Given the description of an element on the screen output the (x, y) to click on. 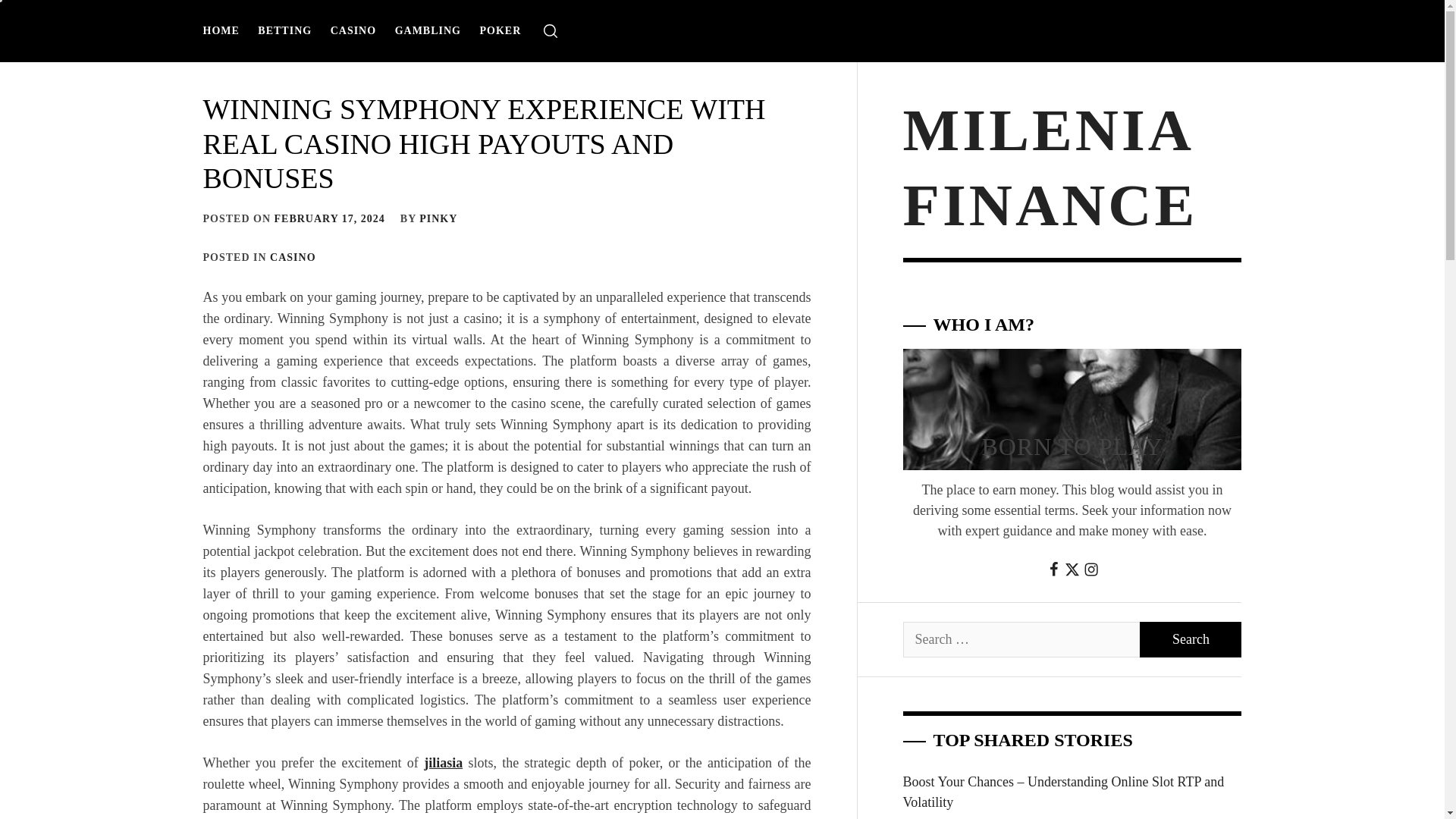
POKER (499, 30)
BETTING (284, 30)
PINKY (438, 218)
Search (1190, 639)
CASINO (353, 30)
GAMBLING (427, 30)
Search (1190, 639)
jiliasia (443, 762)
Search (797, 409)
FEBRUARY 17, 2024 (330, 218)
Search (1190, 639)
HOME (225, 30)
MILENIA FINANCE (1050, 167)
CASINO (292, 256)
